Given the description of an element on the screen output the (x, y) to click on. 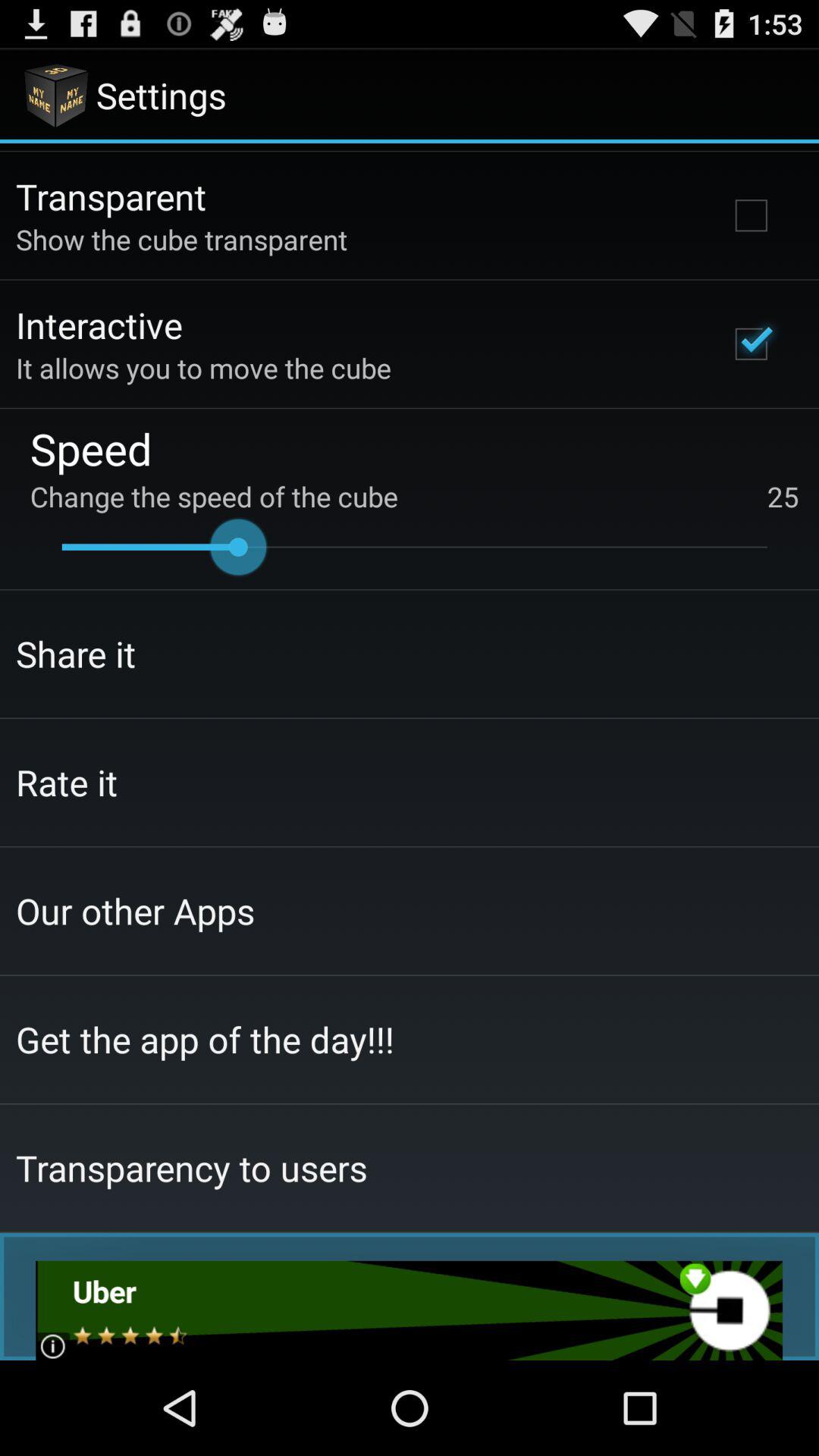
press the item below transparency to users icon (408, 1310)
